Given the description of an element on the screen output the (x, y) to click on. 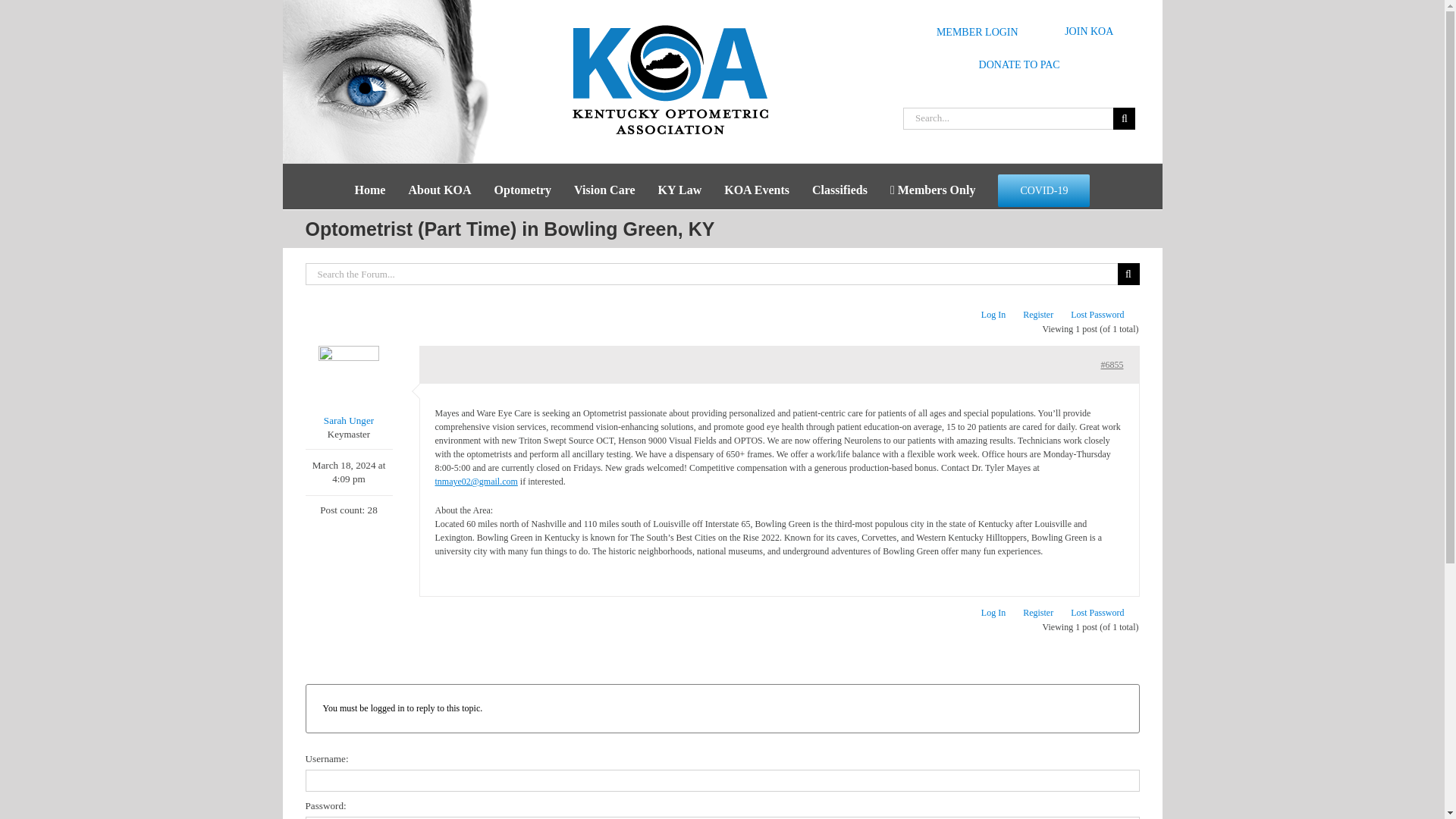
Vision Care (603, 190)
DONATE TO PAC (1018, 64)
About KOA (438, 190)
JOIN KOA (1088, 31)
Optometry (523, 190)
View Sarah Unger's profile (347, 386)
MEMBER LOGIN (971, 31)
